Given the description of an element on the screen output the (x, y) to click on. 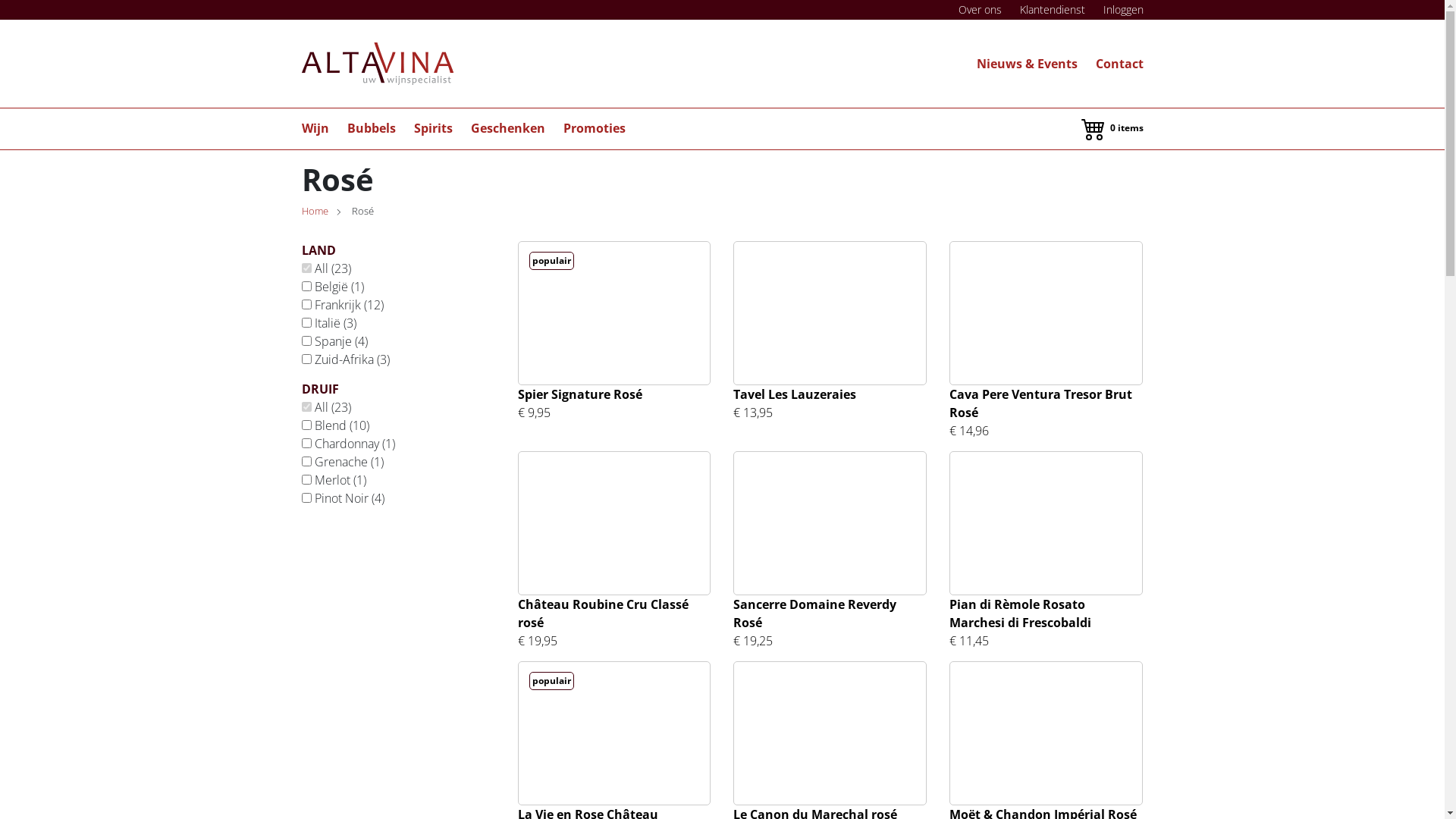
Geschenken Element type: text (507, 134)
Spirits Element type: text (433, 134)
Contact Element type: text (1118, 63)
Klantendienst Element type: text (1051, 9)
Winkelwagen Element type: hover (1093, 128)
Home Element type: text (314, 210)
Over ons Element type: text (979, 9)
Nieuws & Events Element type: text (1026, 63)
0 items Element type: text (1112, 128)
Overslaan en naar de inhoud gaan Element type: text (0, 0)
Promoties Element type: text (593, 134)
Bubbels Element type: text (371, 134)
Inloggen Element type: text (1122, 9)
Wijn Element type: text (315, 134)
